Given the description of an element on the screen output the (x, y) to click on. 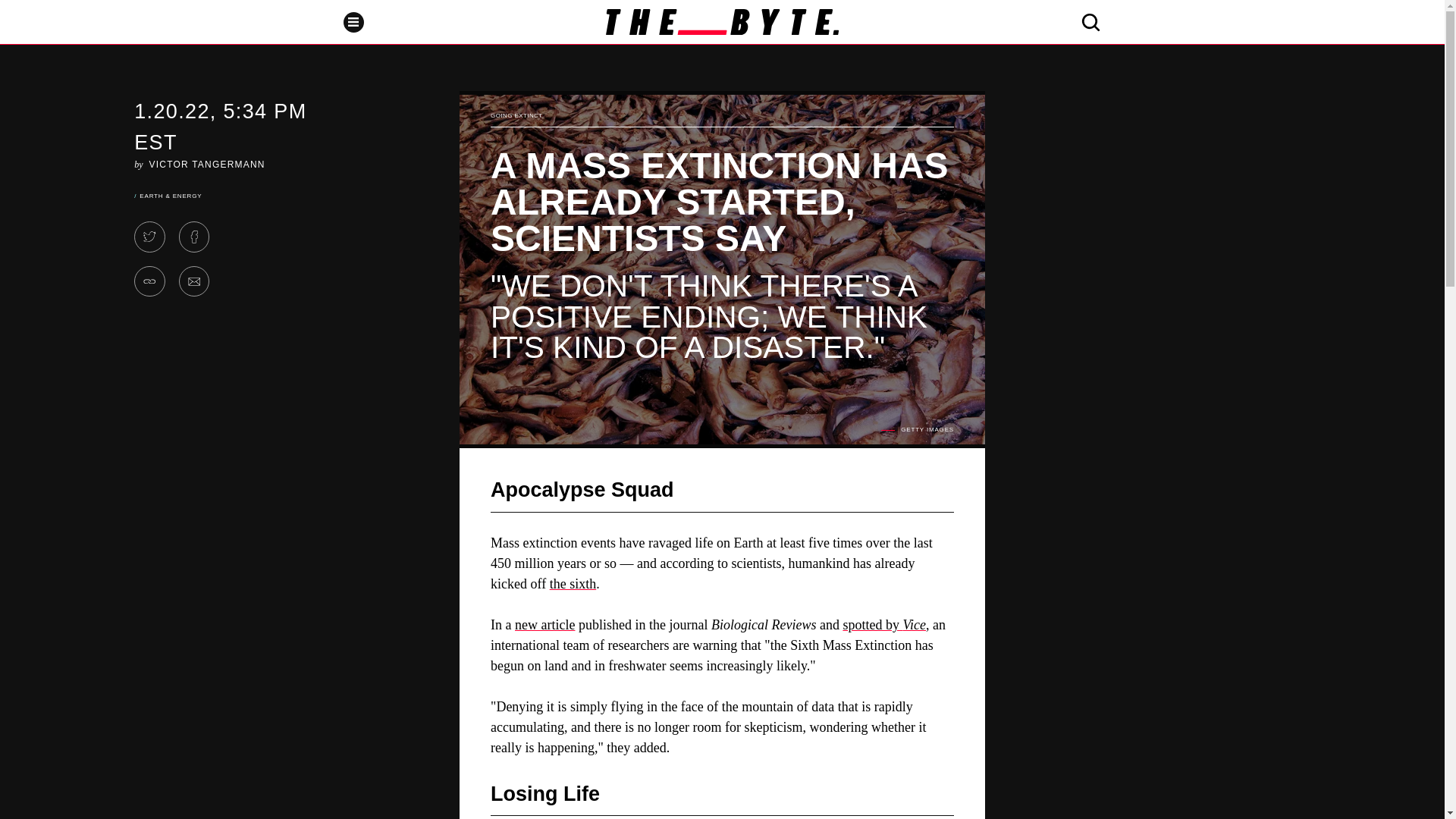
VICTOR TANGERMANN (206, 163)
Tweet This (149, 236)
new article (545, 624)
Share via Email (194, 281)
spotted by Vice (884, 624)
the sixth (573, 583)
Copy Link (149, 281)
Victor Tangermann (206, 163)
Share to Facebook (194, 236)
The Byte (722, 22)
